Given the description of an element on the screen output the (x, y) to click on. 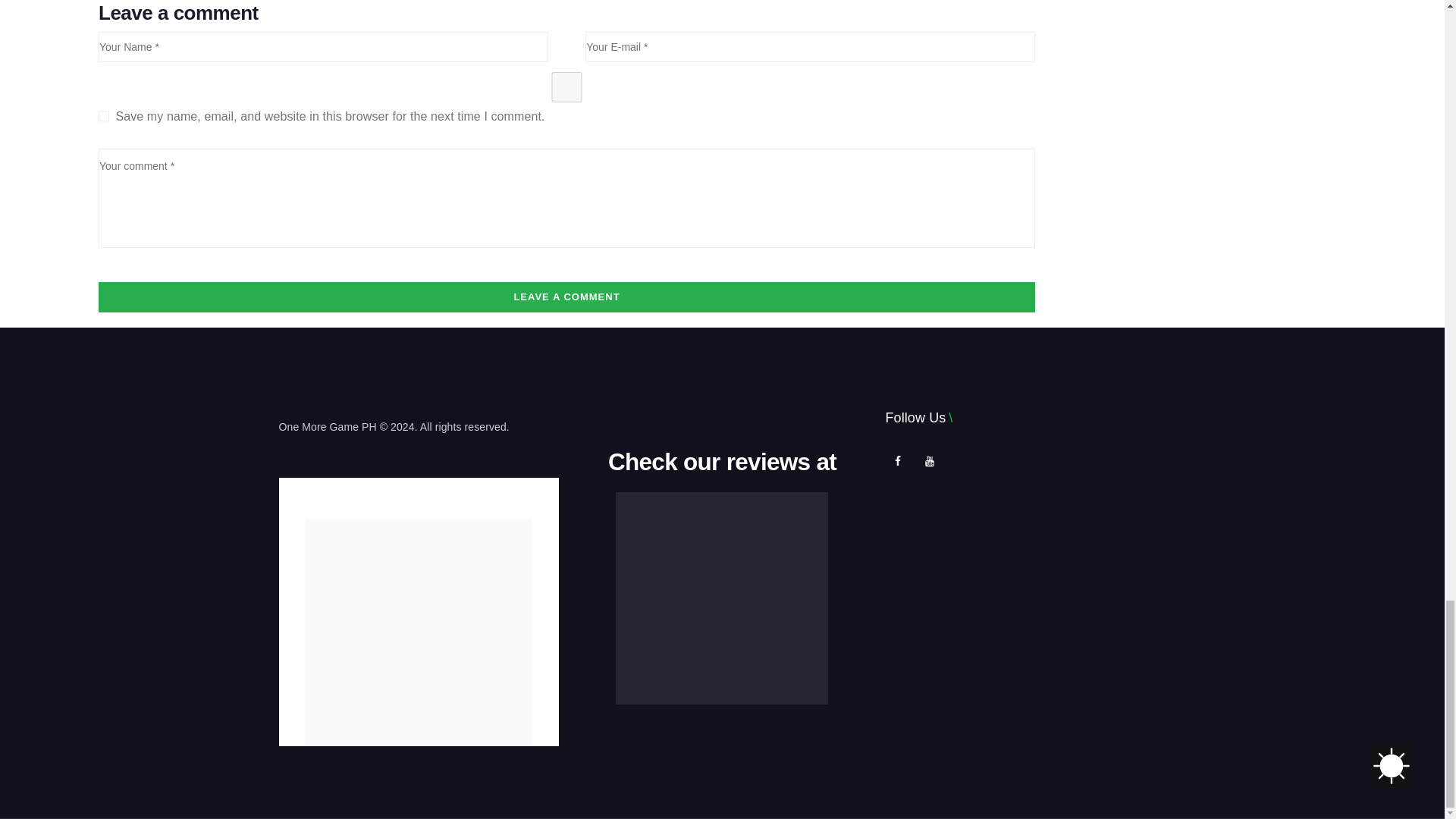
yes (567, 87)
Leave a comment (567, 296)
BM Logo (418, 632)
